Given the description of an element on the screen output the (x, y) to click on. 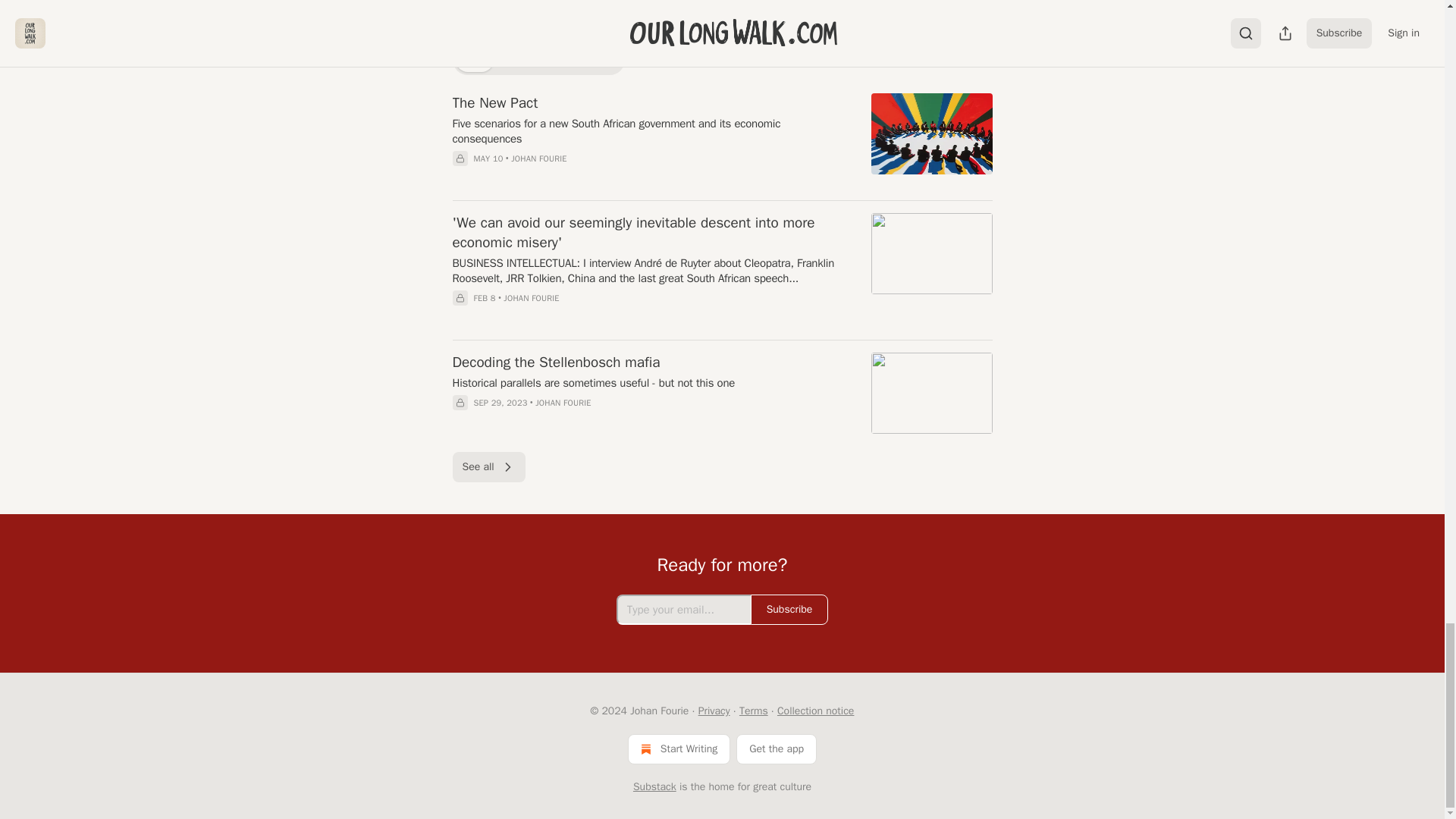
Top (471, 59)
Latest (518, 59)
